Given the description of an element on the screen output the (x, y) to click on. 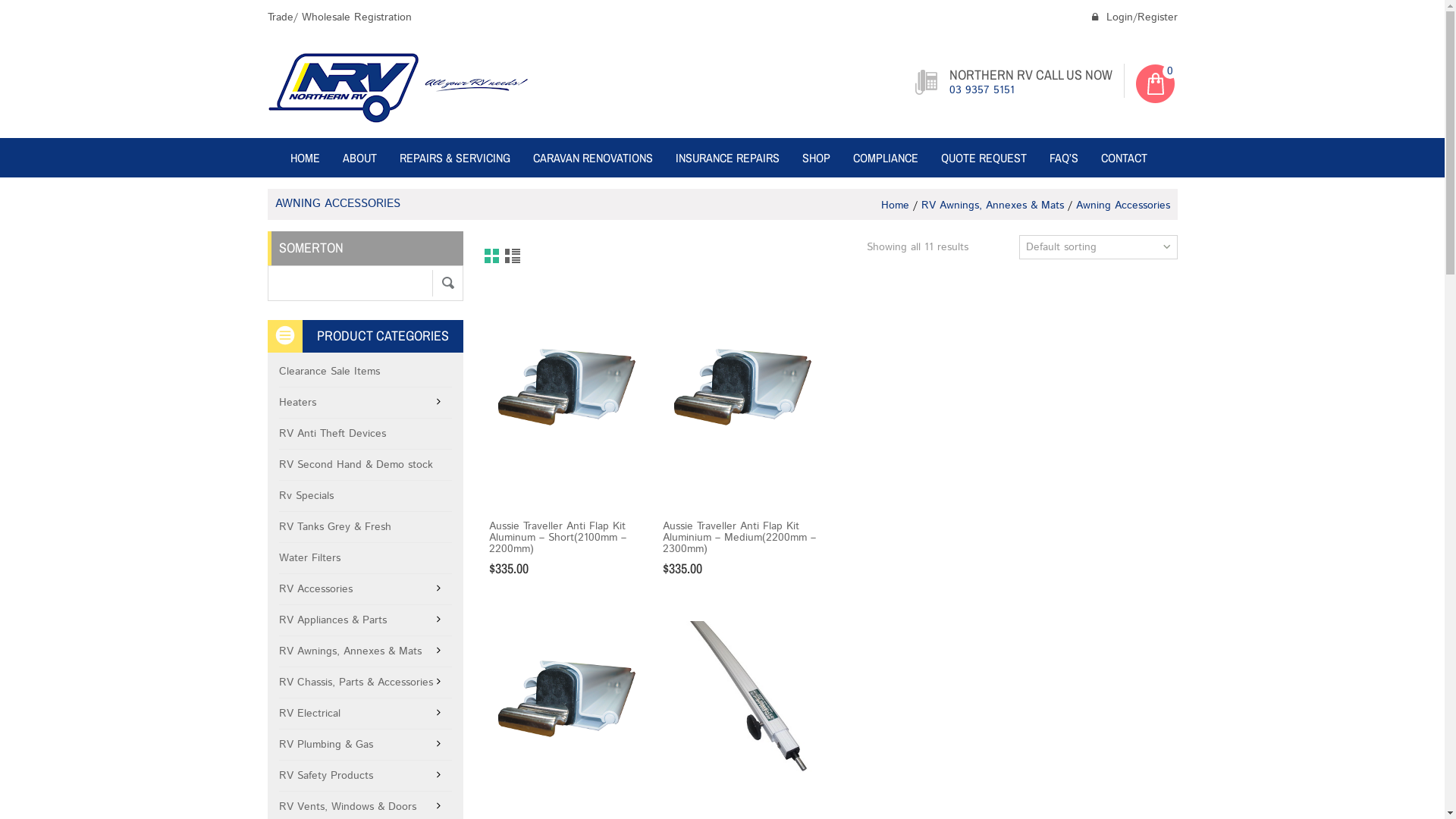
Home Element type: text (895, 205)
CARAVAN RENOVATIONS Element type: text (592, 157)
Northern RV Element type: hover (397, 86)
Heaters Element type: text (365, 402)
RV Plumbing & Gas Element type: text (365, 744)
RV Chassis, Parts & Accessories Element type: text (365, 682)
Go Element type: text (447, 282)
Login/Register Element type: text (1132, 17)
Water Filters Element type: text (365, 558)
RV Tanks Grey & Fresh Element type: text (365, 526)
List view Element type: hover (513, 256)
RV Awnings, Annexes & Mats Element type: text (365, 651)
RV Second Hand & Demo stock Element type: text (365, 464)
RV Safety Products Element type: text (365, 775)
HOME Element type: text (305, 157)
Grid view Element type: hover (491, 256)
RV Accessories Element type: text (365, 589)
Rv Specials Element type: text (365, 495)
SHOP Element type: text (815, 157)
RV Appliances & Parts Element type: text (365, 620)
RV Awnings, Annexes & Mats Element type: text (991, 205)
Clearance Sale Items Element type: text (365, 371)
RV Anti Theft Devices Element type: text (365, 433)
CONTACT Element type: text (1122, 157)
03 9357 5151 Element type: text (981, 89)
INSURANCE REPAIRS Element type: text (727, 157)
Trade/ Wholesale Registration Element type: text (338, 17)
QUOTE REQUEST Element type: text (983, 157)
RV Electrical Element type: text (365, 713)
REPAIRS & SERVICING Element type: text (454, 157)
0 Element type: text (1168, 70)
COMPLIANCE Element type: text (885, 157)
ABOUT Element type: text (358, 157)
